Given the description of an element on the screen output the (x, y) to click on. 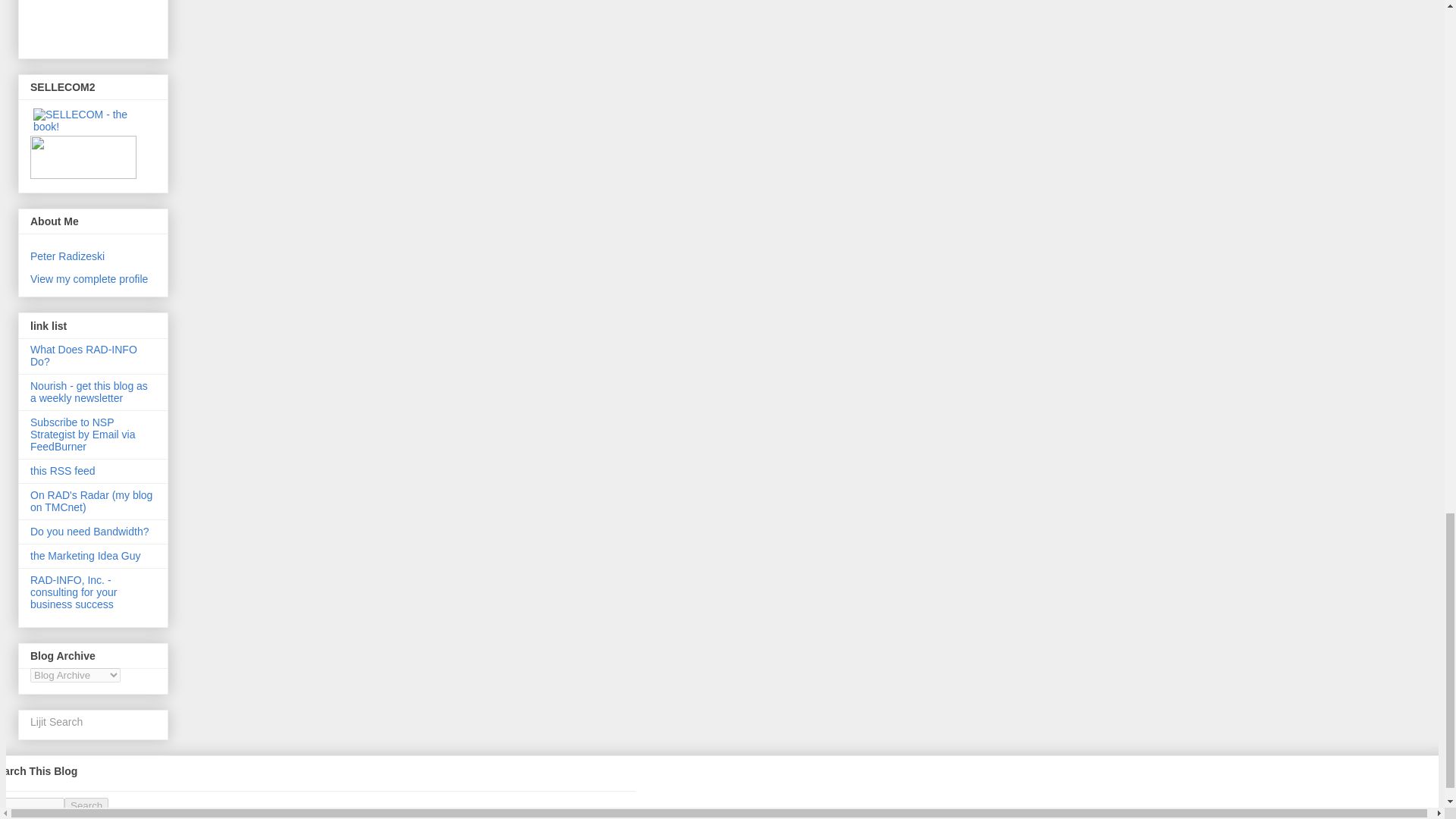
the Marketing Idea Guy (85, 555)
Advertisement (98, 22)
search (32, 805)
Peter Radizeski (67, 256)
View my complete profile (89, 278)
search (85, 805)
Search (85, 805)
What Does RAD-INFO Do? (83, 355)
Nourish - get this blog as a weekly newsletter (89, 392)
this RSS feed (63, 470)
Do you need Bandwidth? (89, 531)
Search (85, 805)
Subscribe to NSP Strategist by Email via FeedBurner (82, 434)
